Given the description of an element on the screen output the (x, y) to click on. 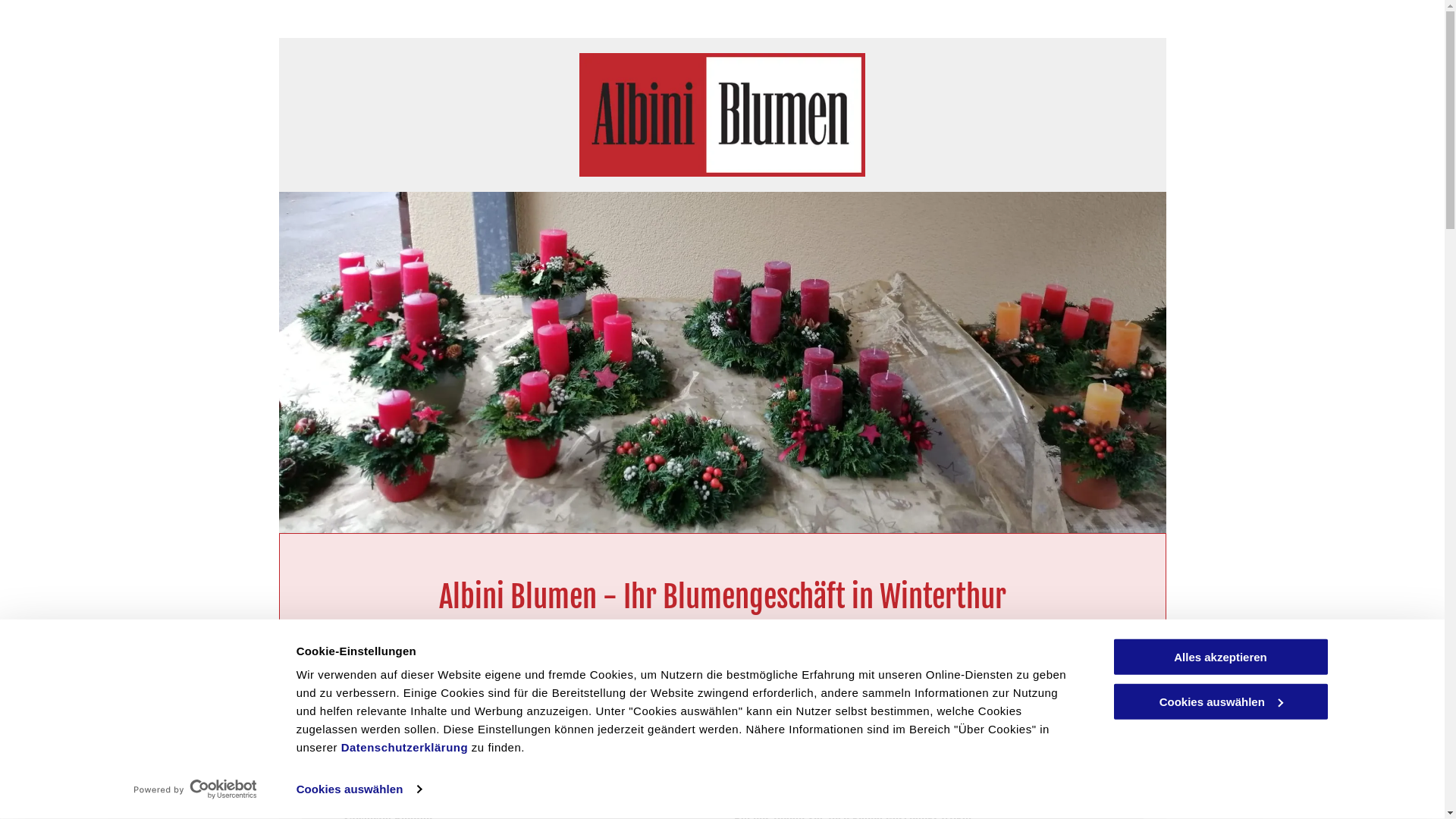
Alles akzeptieren Element type: text (1219, 656)
